Given the description of an element on the screen output the (x, y) to click on. 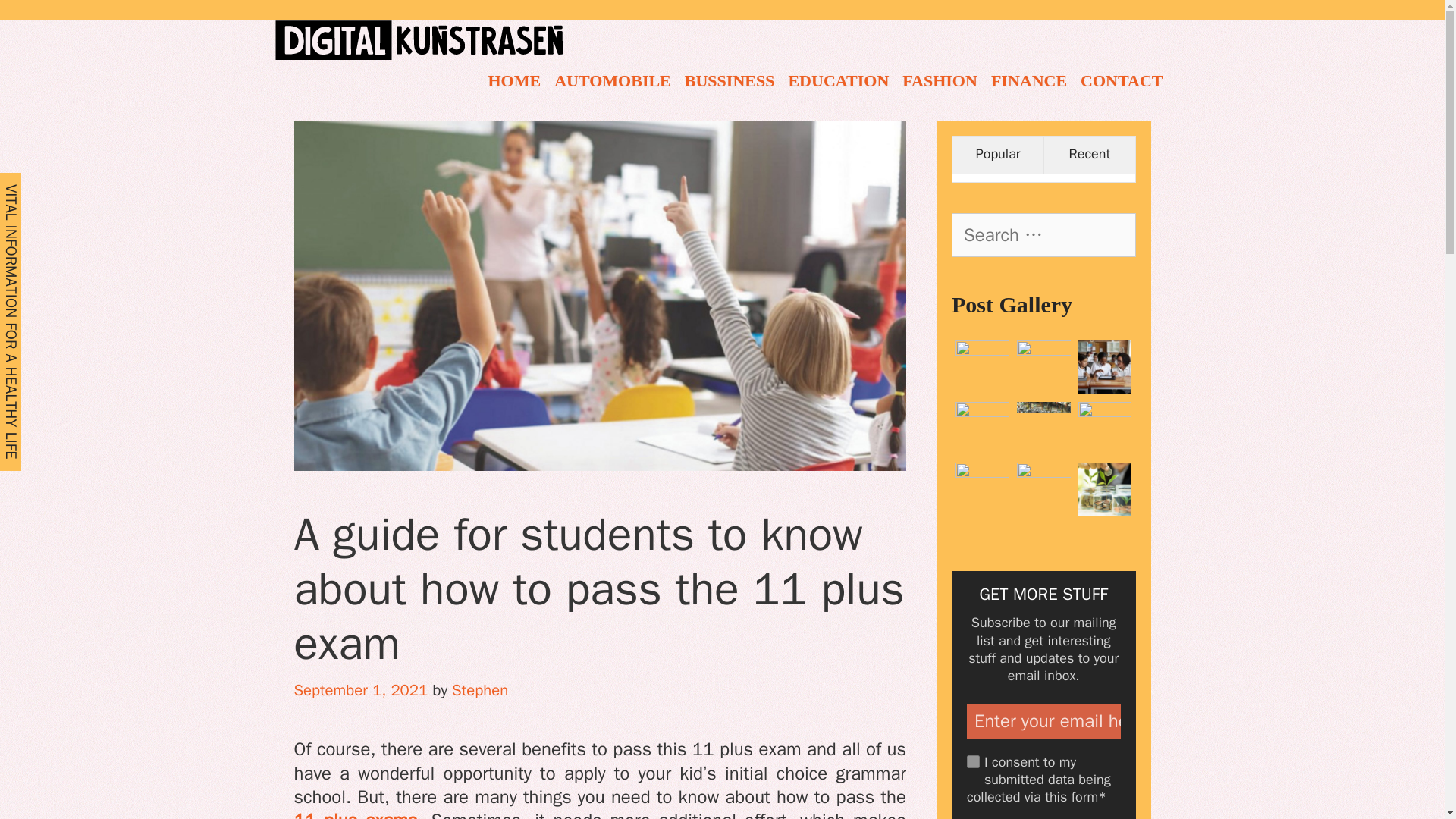
Popular (997, 155)
Digital Kunstrasen (418, 38)
8:44 am (361, 690)
FASHION (939, 79)
Stephen (479, 690)
AUTOMOBILE (612, 79)
Search for: (1043, 234)
EDUCATION (837, 79)
Digital Kunstrasen (418, 38)
CONTACT (1121, 79)
View all posts by Stephen (479, 690)
HOME (513, 79)
11 plus exams (355, 814)
Search (39, 20)
on (972, 761)
